Given the description of an element on the screen output the (x, y) to click on. 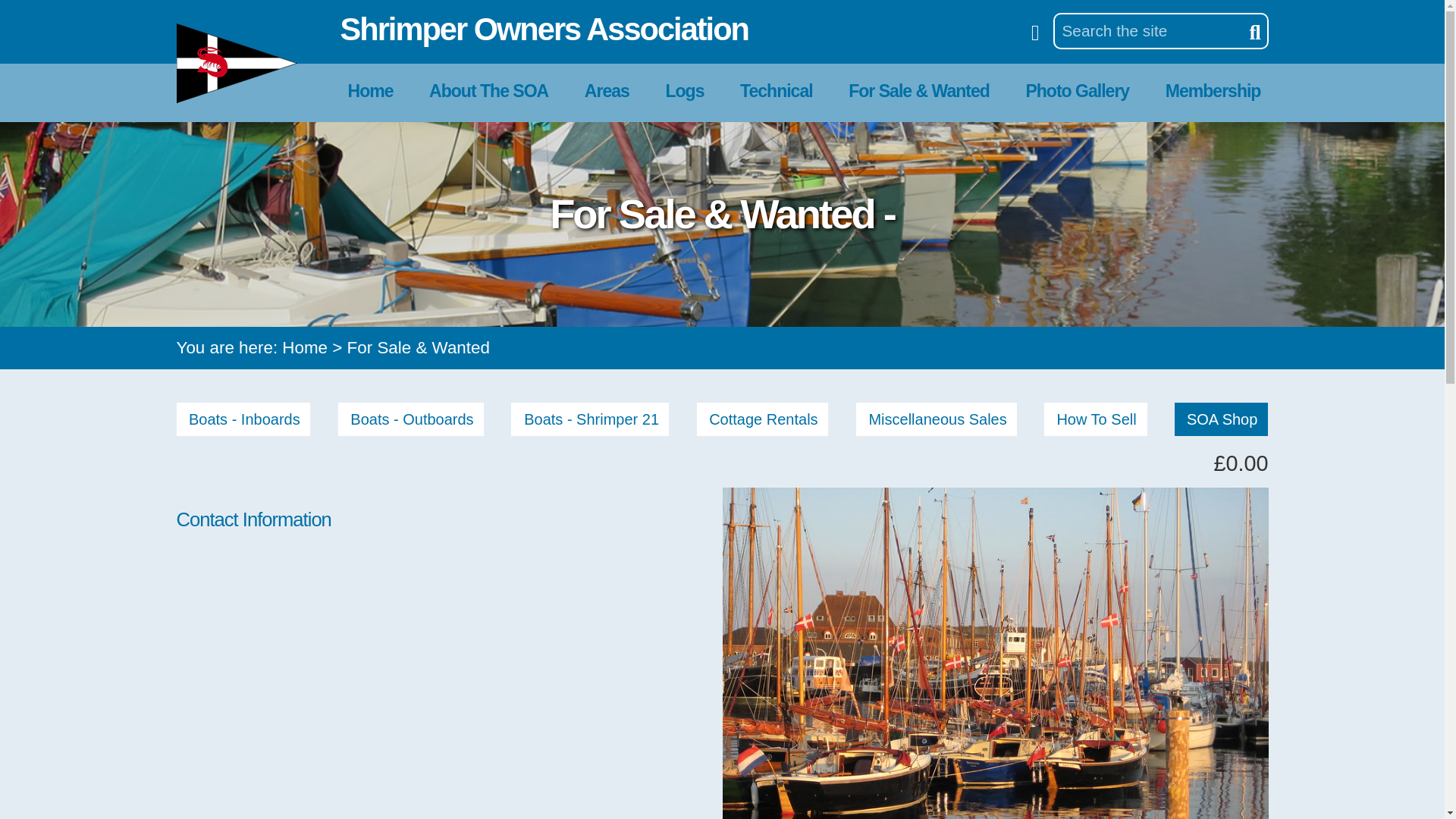
Home (369, 90)
Welcome To The Shrimper Owners Association (369, 90)
Areas (606, 90)
About The SOA (489, 90)
Areas (606, 90)
Logs (684, 90)
About The SOA (489, 90)
Technical (776, 90)
